Given the description of an element on the screen output the (x, y) to click on. 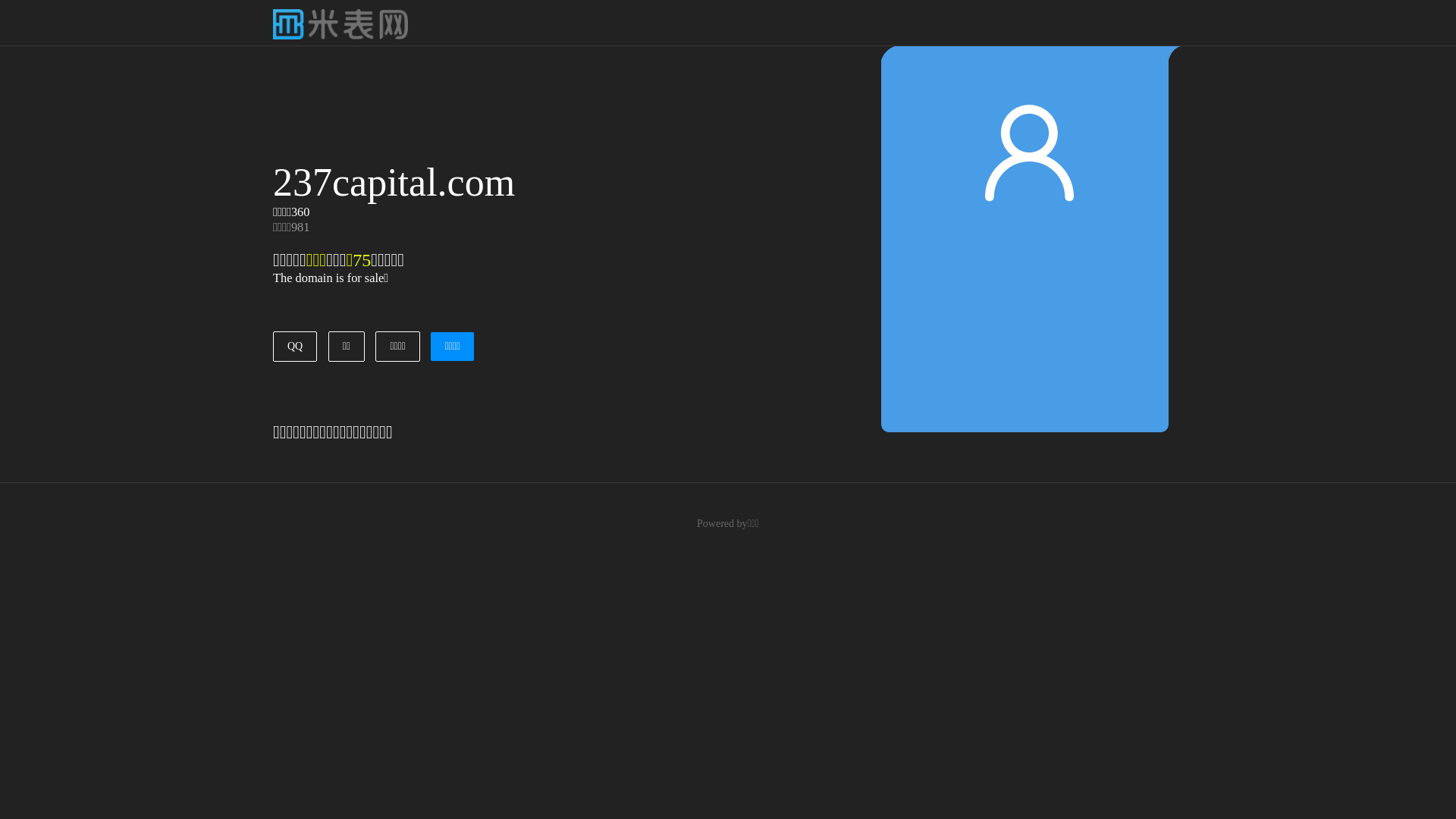
QQ Element type: text (294, 346)
